Given the description of an element on the screen output the (x, y) to click on. 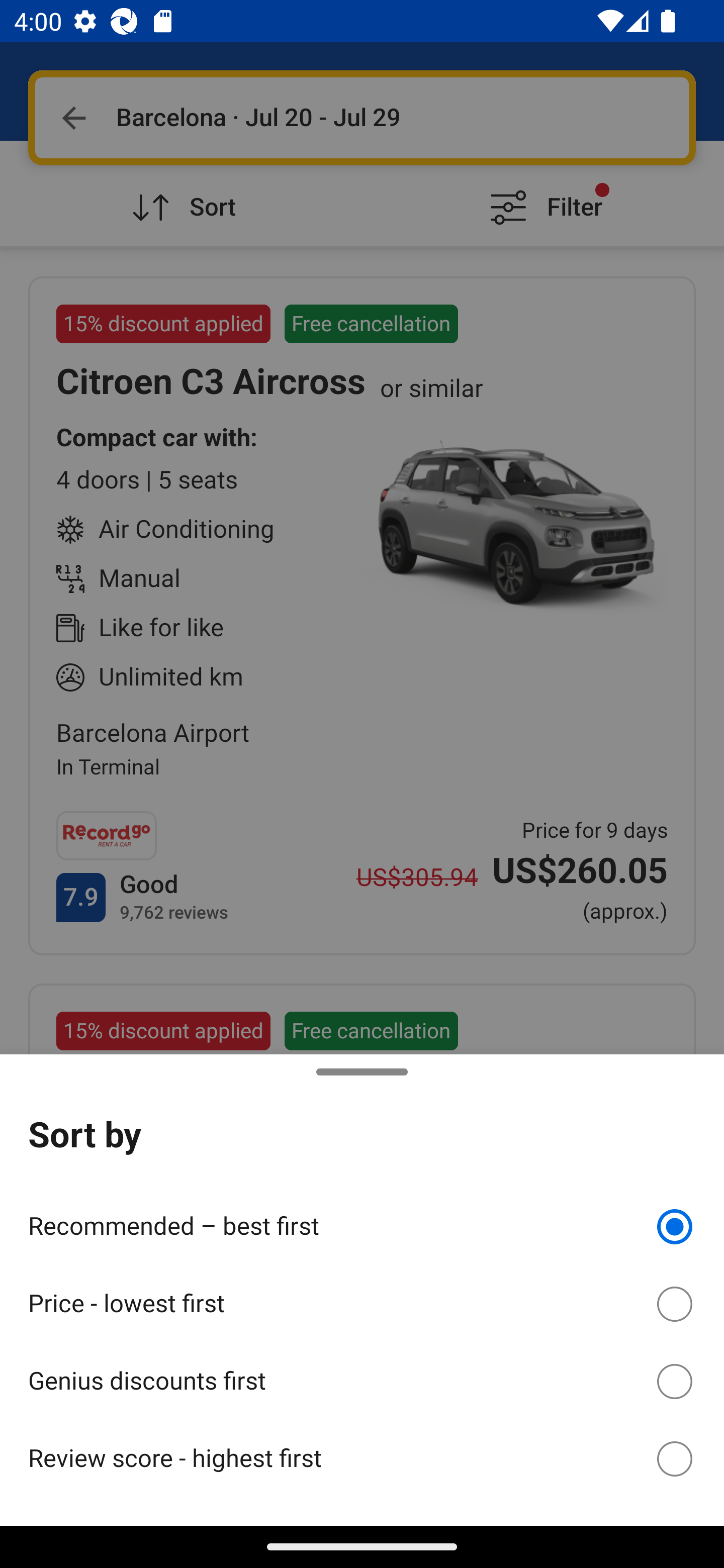
Price - lowest first (361, 1300)
Genius discounts first (361, 1378)
Review score - highest first (361, 1458)
